Given the description of an element on the screen output the (x, y) to click on. 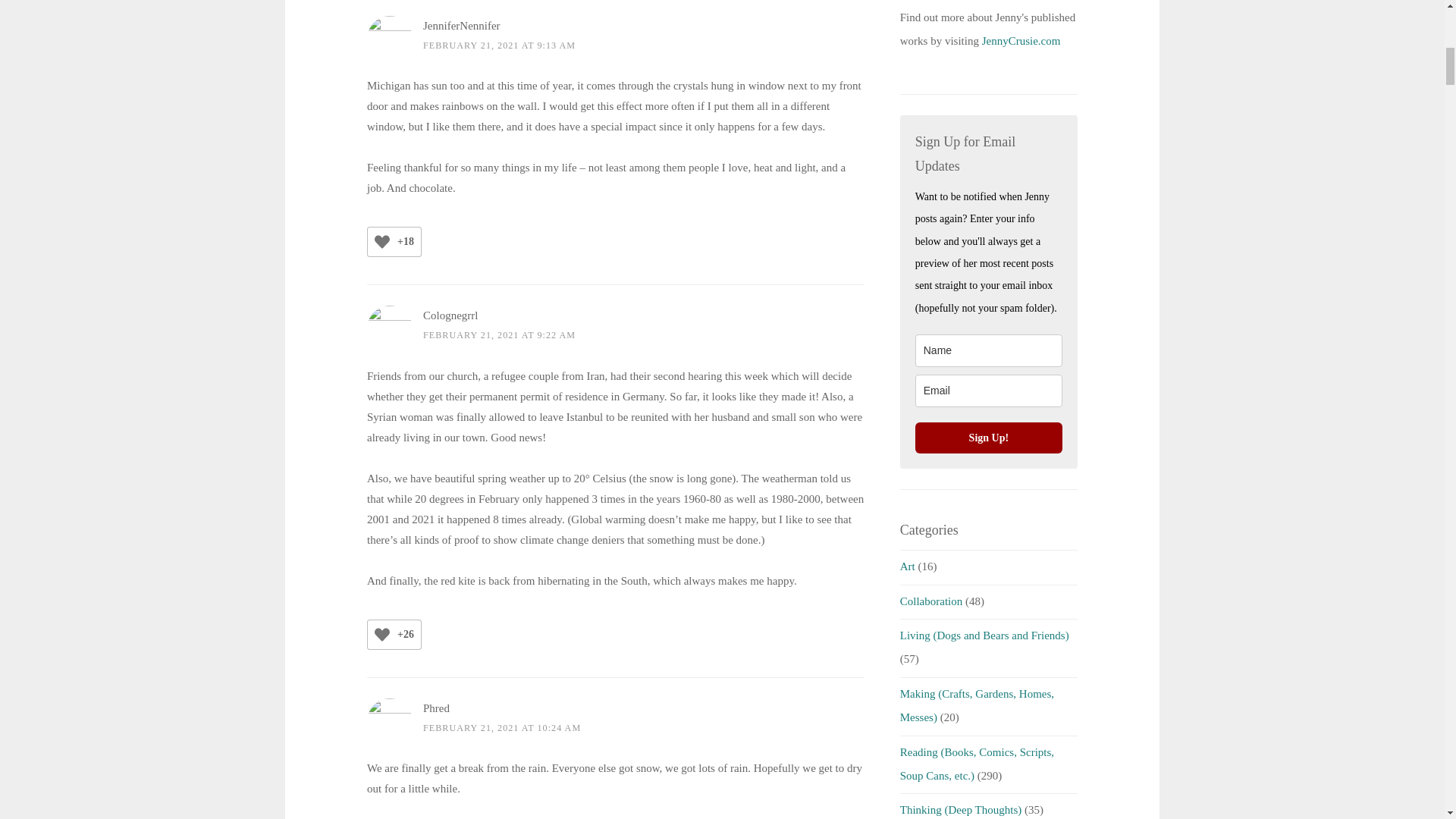
Colognegrrl (451, 315)
FEBRUARY 21, 2021 AT 9:13 AM (499, 45)
FEBRUARY 21, 2021 AT 10:24 AM (501, 727)
FEBRUARY 21, 2021 AT 9:22 AM (499, 335)
